Given the description of an element on the screen output the (x, y) to click on. 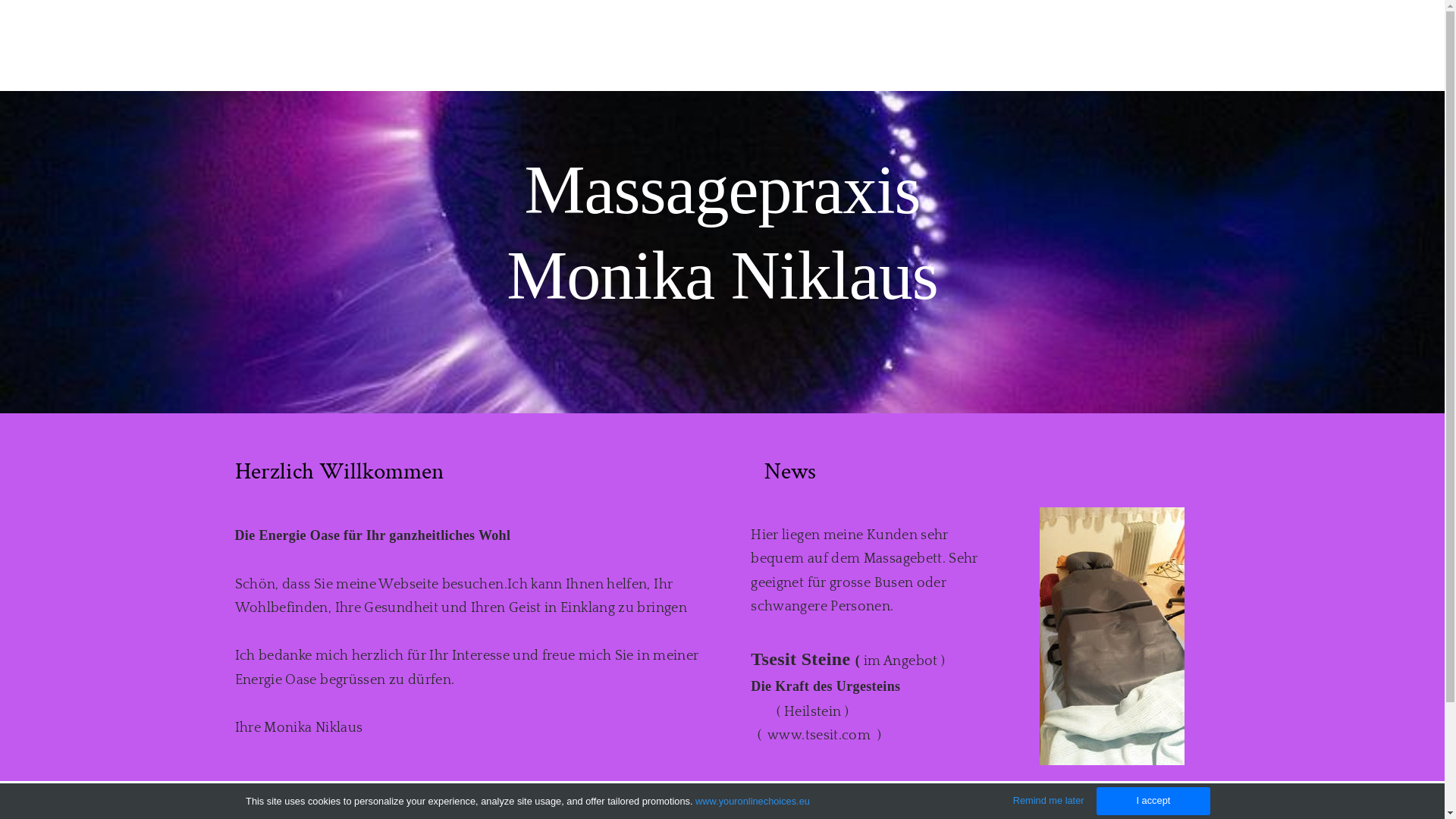
Remind me later Element type: text (1048, 800)
I accept Element type: text (1153, 801)
www.youronlinechoices.eu Element type: text (752, 800)
